Given the description of an element on the screen output the (x, y) to click on. 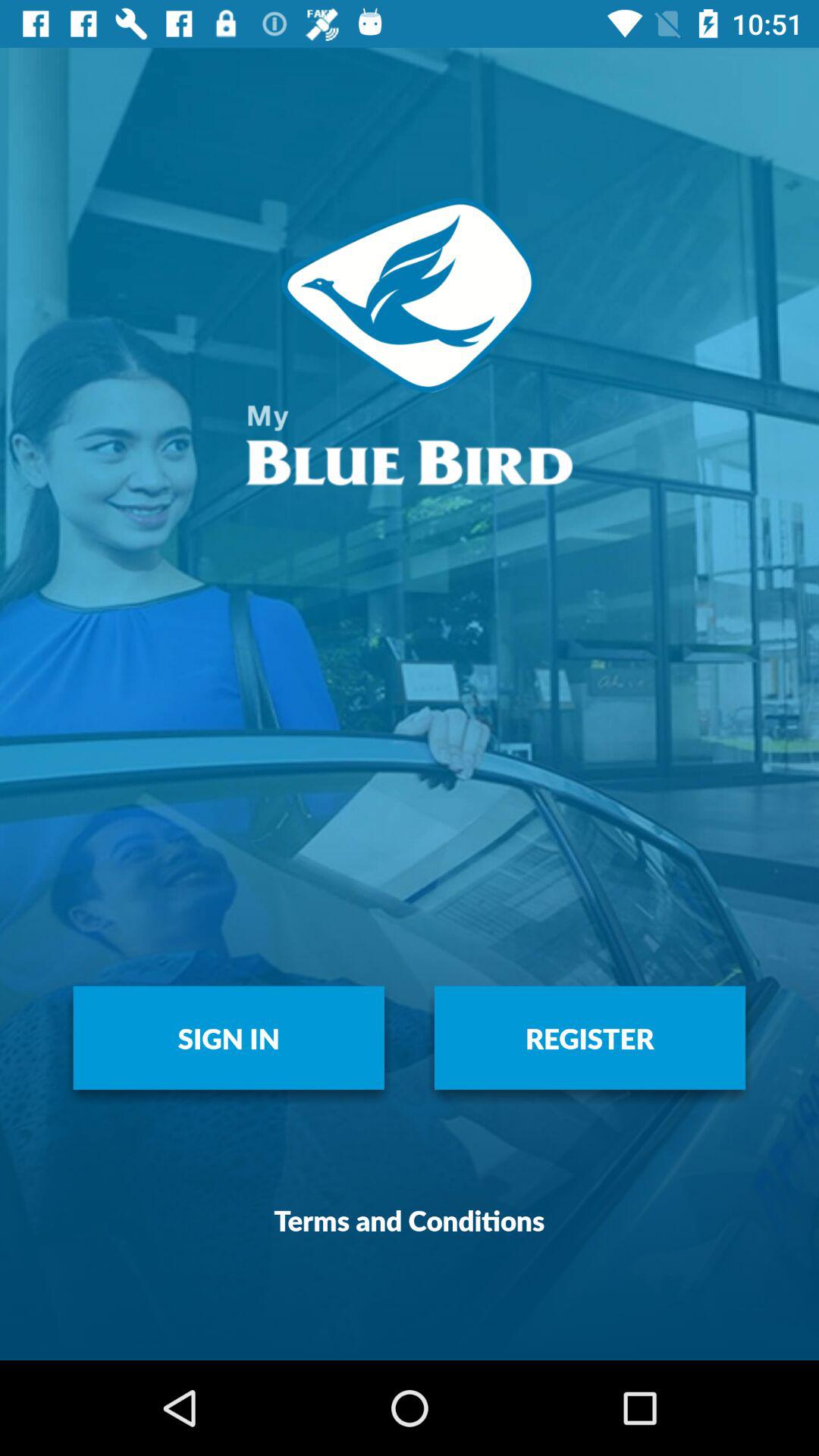
launch the icon next to sign in (589, 1037)
